Given the description of an element on the screen output the (x, y) to click on. 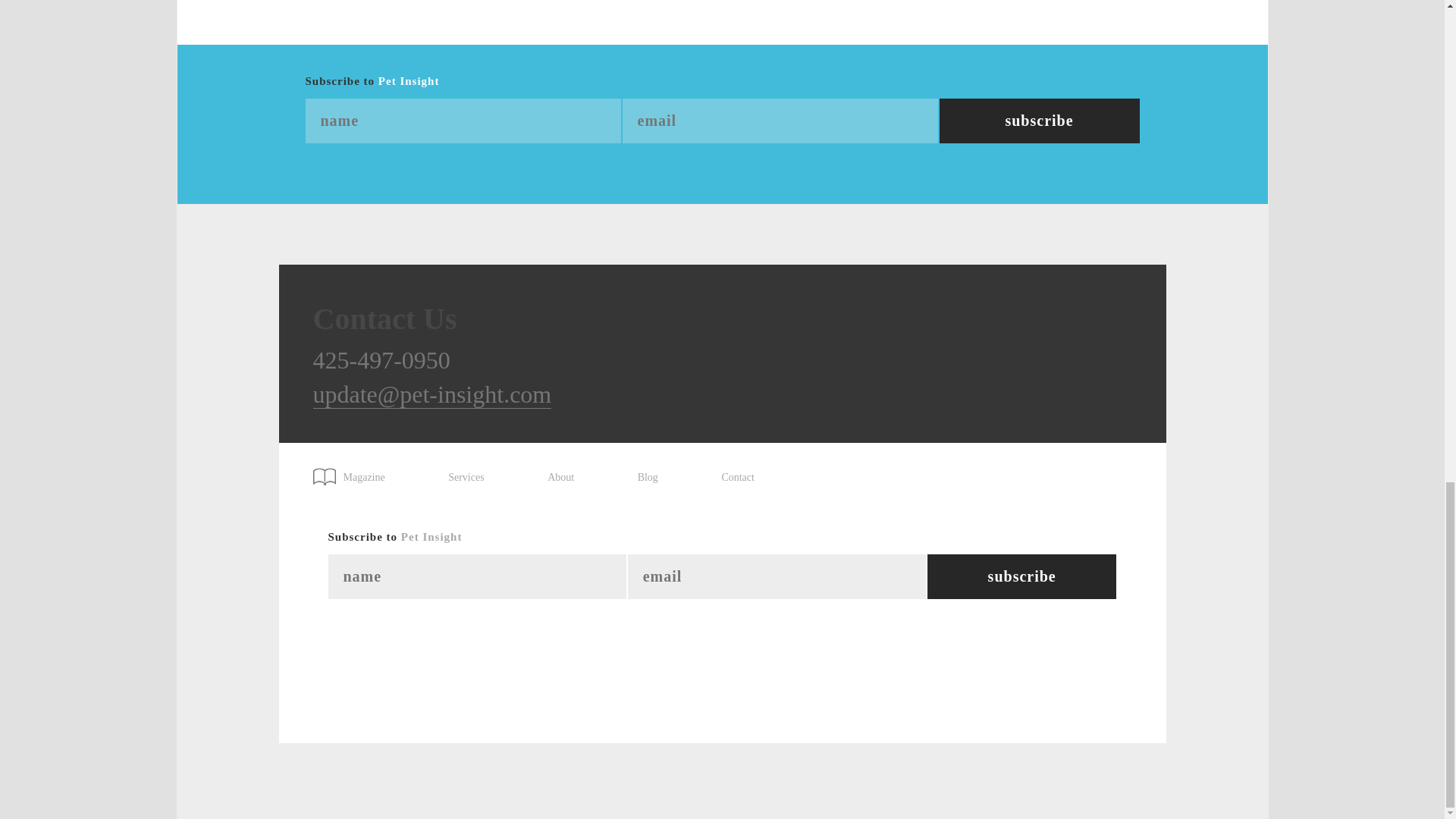
About (560, 477)
Subscribe (1038, 120)
Subscribe (1021, 576)
Contact (737, 477)
Subscribe (1038, 120)
Blog (647, 477)
Services (465, 477)
Magazine (355, 471)
Subscribe (1021, 576)
